Given the description of an element on the screen output the (x, y) to click on. 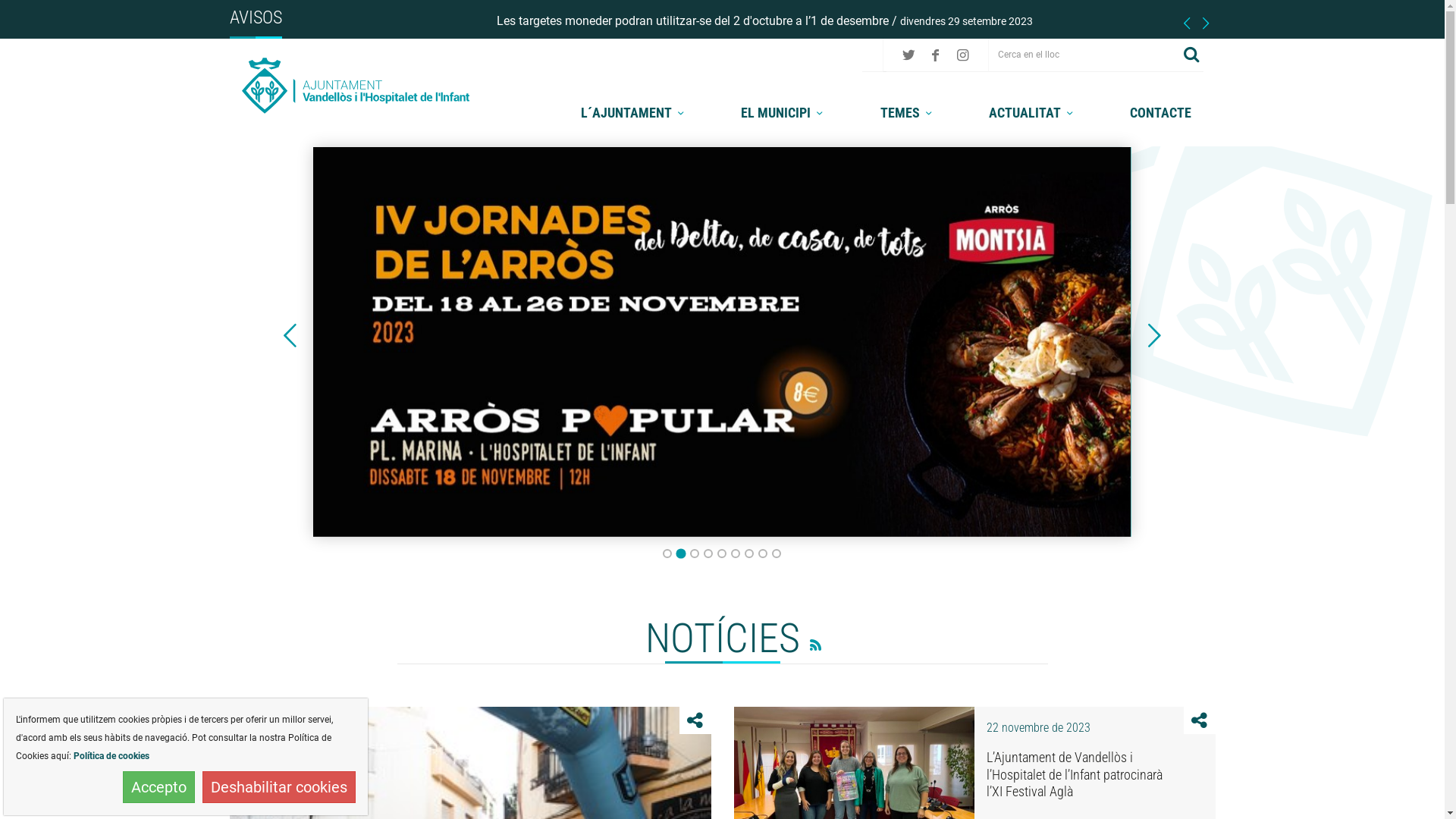
TEMES Element type: text (908, 112)
Compartir Element type: text (1199, 720)
Anterior Element type: text (1185, 23)
Saltar al contingut Element type: text (34, 16)
2 Element type: text (680, 552)
4 Element type: text (707, 553)
RSS Element type: text (811, 642)
Anterior Element type: text (289, 335)
Compartir Element type: text (695, 720)
Anterior Element type: hover (1185, 23)
Deshabilitar cookies Element type: text (278, 787)
1 Element type: text (666, 553)
8 Element type: text (762, 553)
Facebook Element type: text (934, 54)
EL MUNICIPI Element type: text (783, 112)
Accepto Element type: text (158, 787)
Cerca Element type: text (1191, 53)
3 Element type: text (694, 553)
ACTUALITAT Element type: text (1032, 112)
5 Element type: text (721, 553)
Cerca en el lloc Element type: hover (1083, 53)
Instagram Element type: text (962, 54)
Twitter Element type: text (908, 54)
9 Element type: text (776, 553)
7 Element type: text (748, 553)
6 Element type: text (735, 553)
anterior Element type: hover (289, 335)
CONTACTE Element type: text (1160, 112)
